Given the description of an element on the screen output the (x, y) to click on. 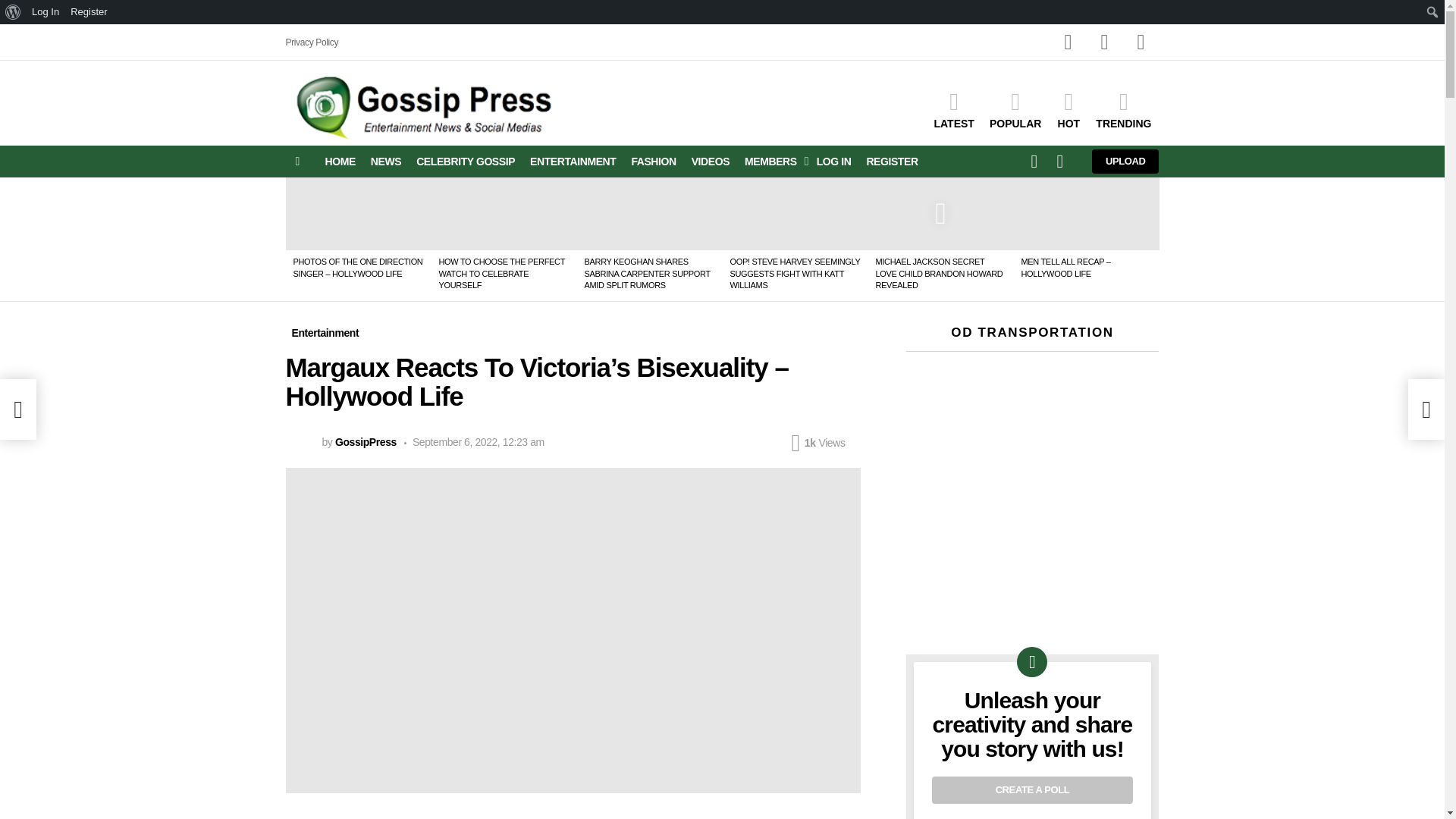
Instagram (1140, 42)
ENTERTAINMENT (572, 160)
MEMBERS (772, 160)
Menu (296, 161)
Privacy Policy (311, 42)
LATEST (953, 109)
Facebook (1067, 42)
LOG IN (834, 160)
POPULAR (1014, 109)
